Given the description of an element on the screen output the (x, y) to click on. 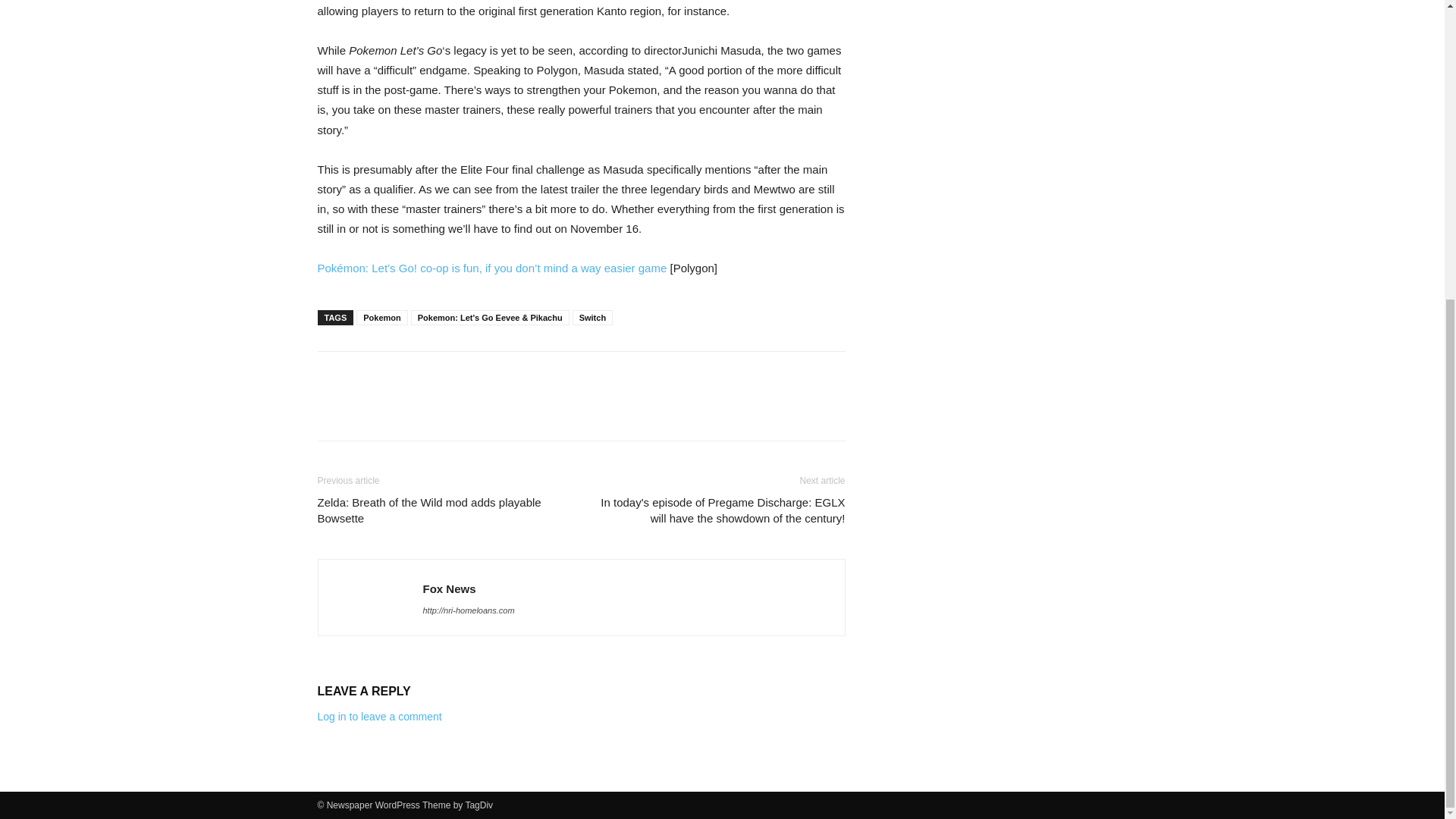
Zelda: Breath of the Wild mod adds playable Bowsette (439, 510)
Log in to leave a comment (379, 716)
Fox News (449, 588)
Pokemon (381, 317)
bottomFacebookLike (430, 375)
Switch (592, 317)
